Given the description of an element on the screen output the (x, y) to click on. 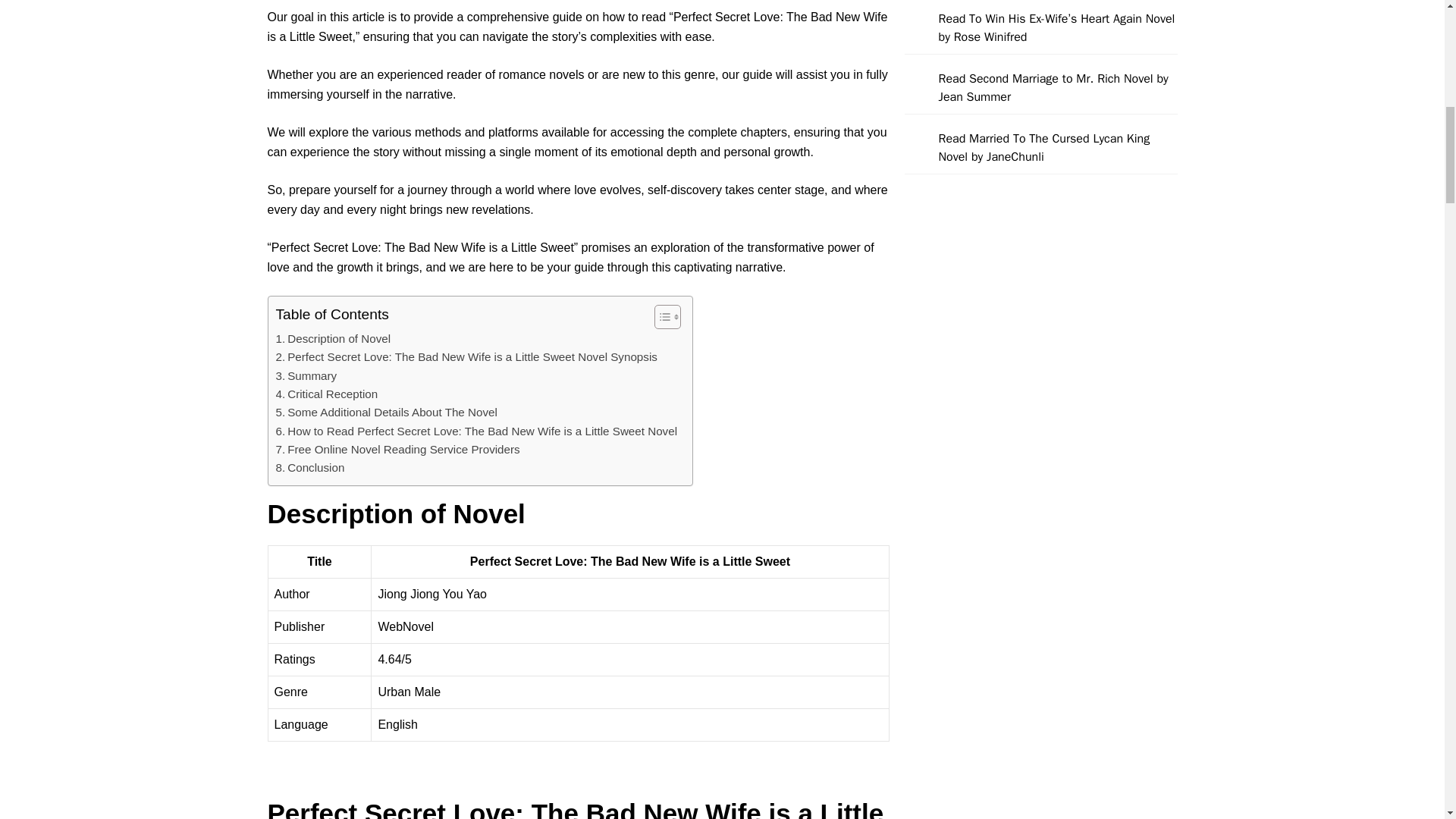
Critical Reception (327, 393)
Some Additional Details About The Novel (386, 412)
Conclusion (310, 467)
Summary (306, 375)
Free Online Novel Reading Service Providers (397, 449)
Conclusion (310, 467)
Free Online Novel Reading Service Providers (397, 449)
Some Additional Details About The Novel (386, 412)
Description of Novel (333, 339)
Description of Novel (333, 339)
Critical Reception (327, 393)
